Given the description of an element on the screen output the (x, y) to click on. 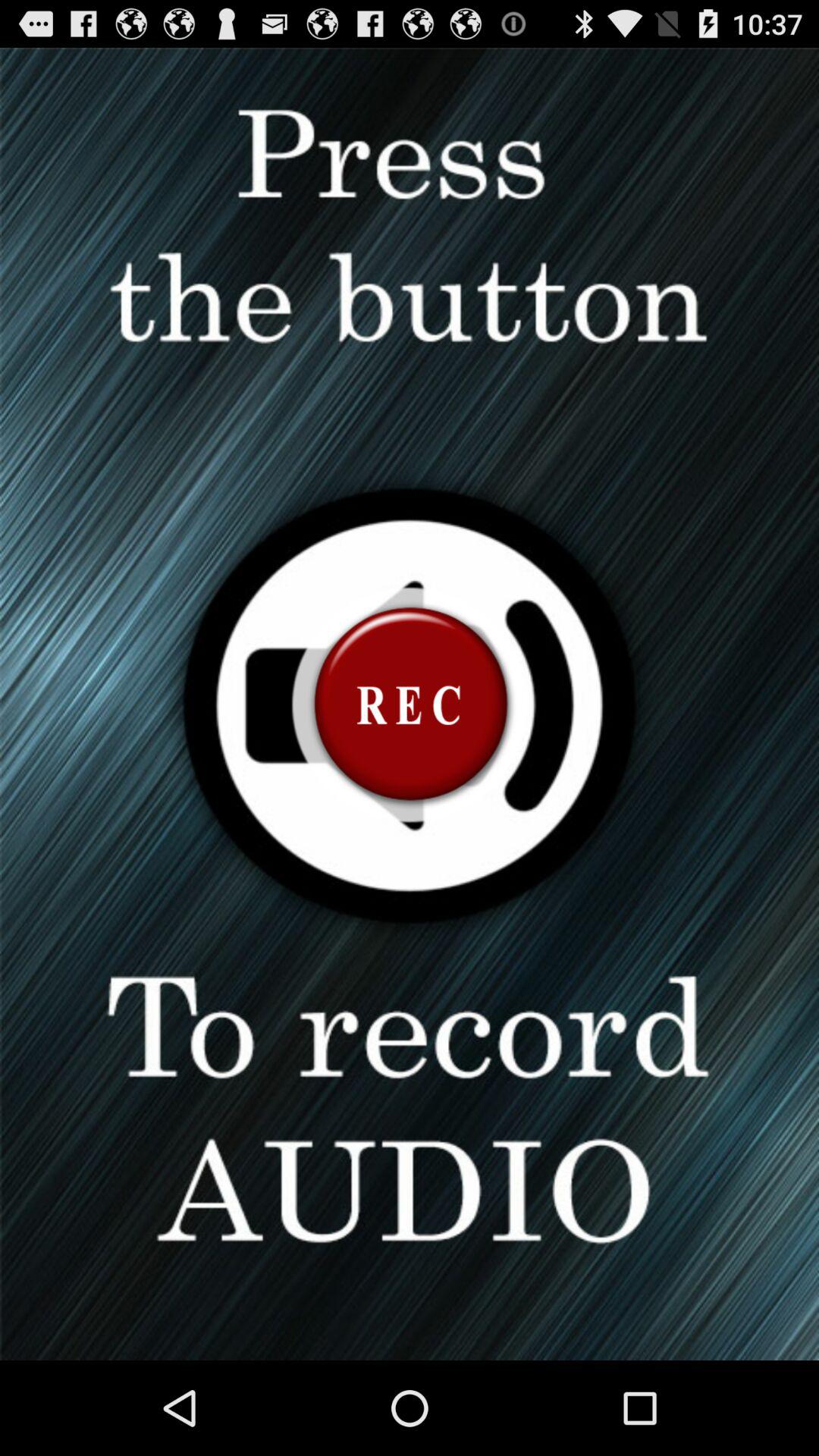
record audio (409, 703)
